Given the description of an element on the screen output the (x, y) to click on. 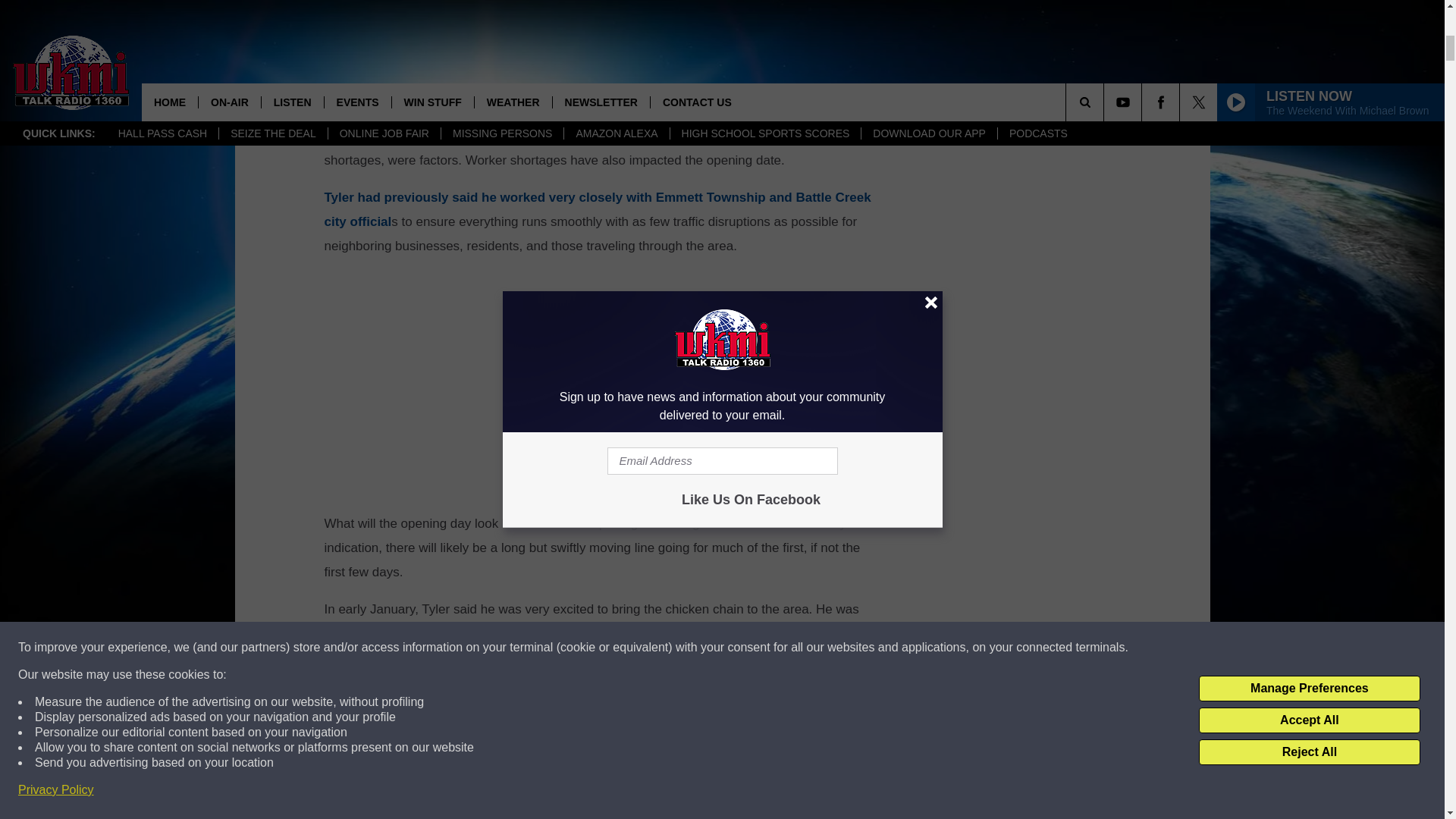
Email Address (600, 816)
